Given the description of an element on the screen output the (x, y) to click on. 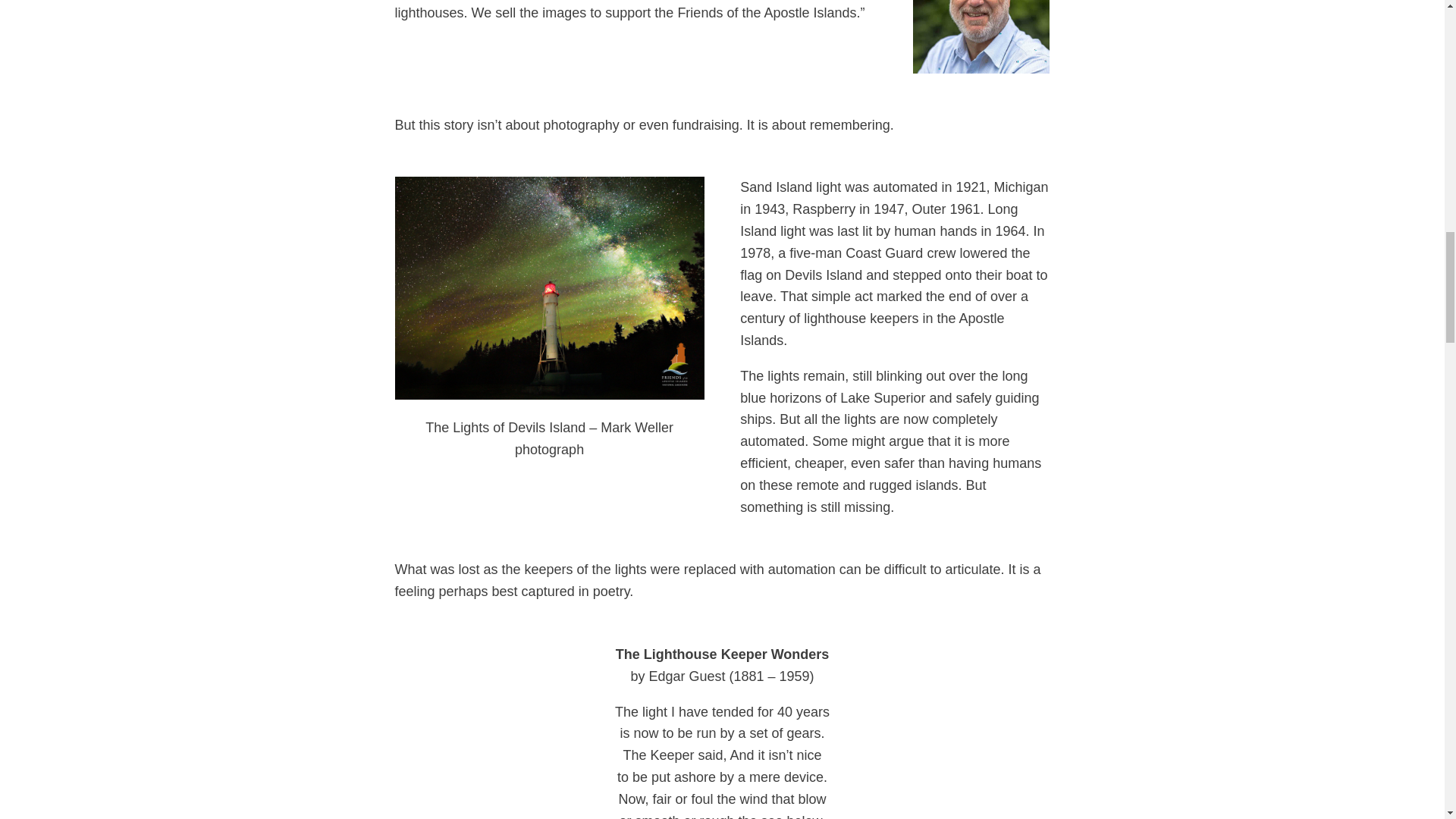
Friends-of-the-Apostle-Islands-Board-Member-Mark-Weller (980, 36)
The Lights of Devils Island (548, 287)
